Given the description of an element on the screen output the (x, y) to click on. 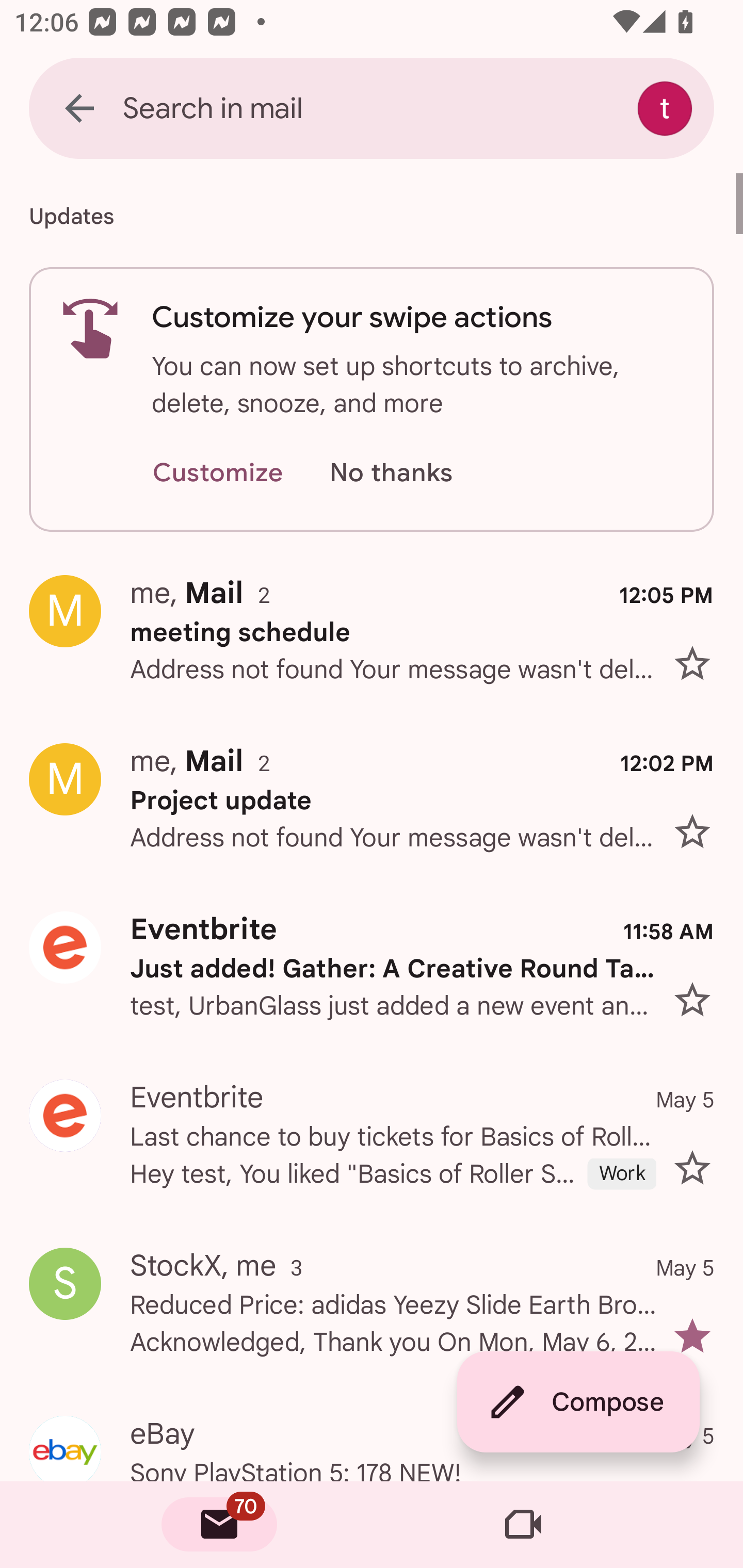
Navigate up (79, 108)
Customize (217, 473)
No thanks (390, 473)
Compose (577, 1401)
Meet (523, 1524)
